Given the description of an element on the screen output the (x, y) to click on. 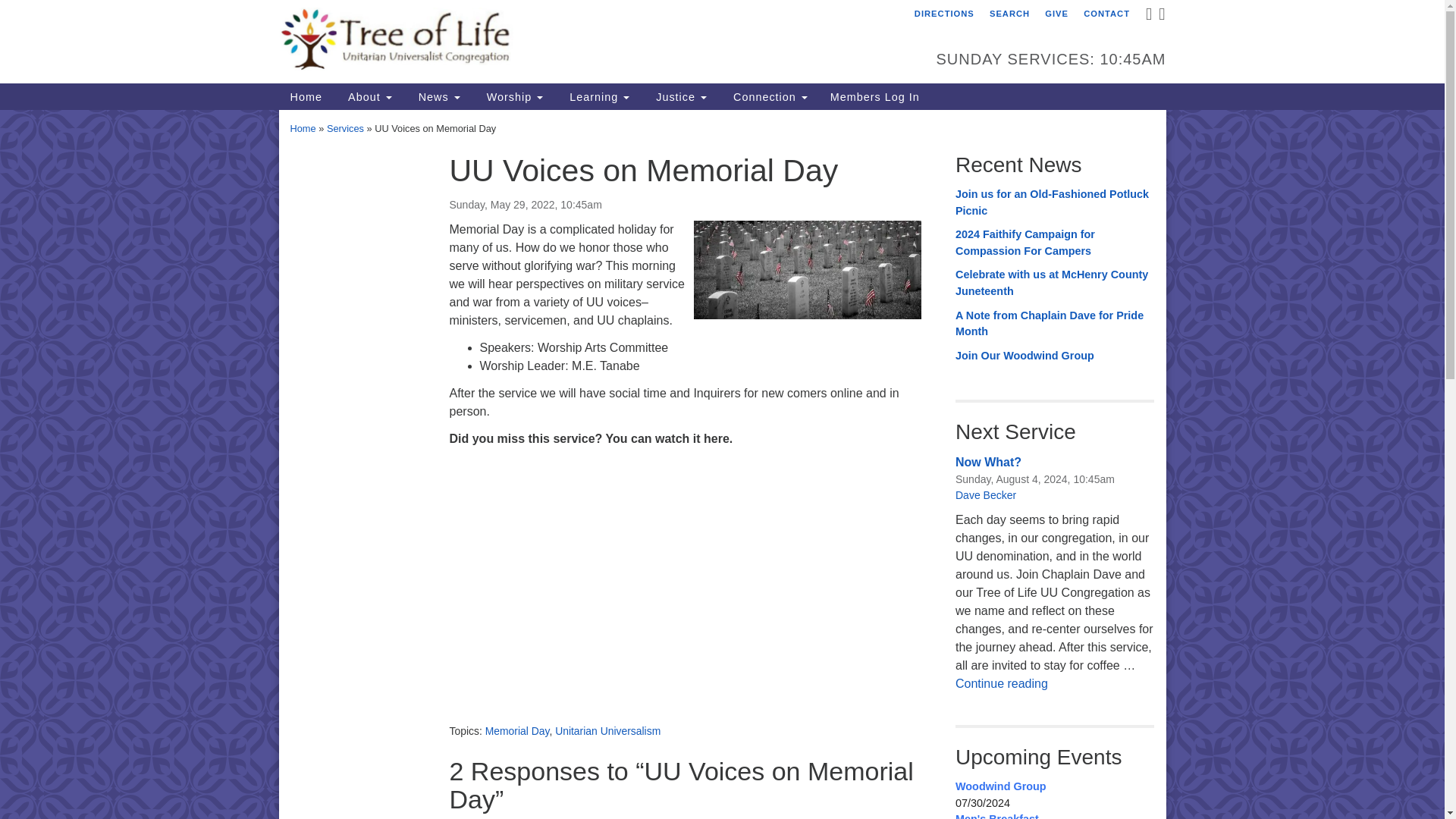
 Learning (597, 96)
CONTACT (1106, 13)
 About (368, 96)
GIVE (1056, 13)
News (437, 96)
TWITTER (1161, 16)
Home (306, 96)
 Worship (512, 96)
DIRECTIONS (943, 13)
FACEBOOK (1147, 16)
Home (306, 96)
SEARCH (1009, 13)
 News (437, 96)
About (368, 96)
